Given the description of an element on the screen output the (x, y) to click on. 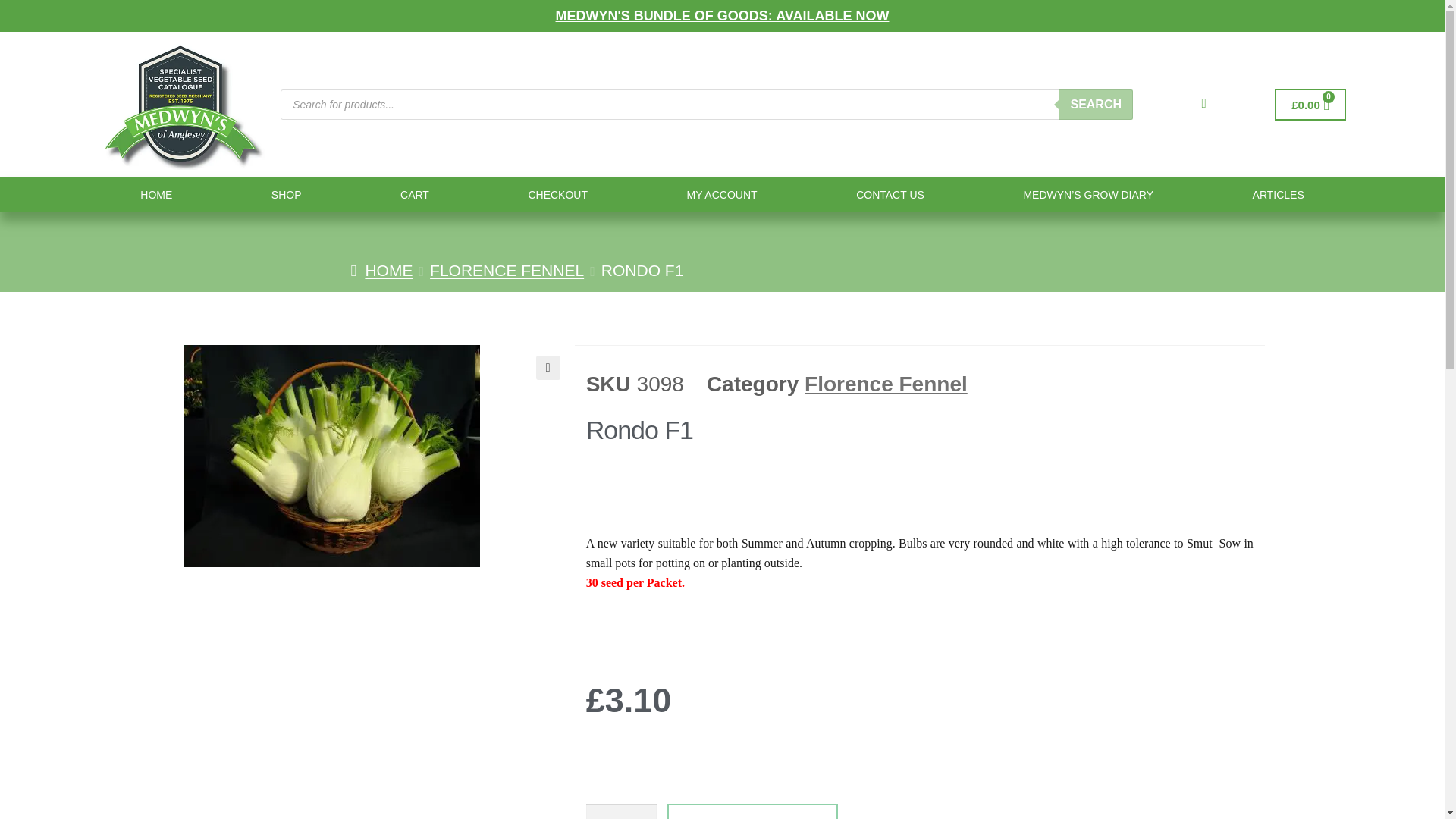
CONTACT US (890, 194)
HOME (156, 194)
CHECKOUT (558, 194)
SHOP (286, 194)
SEARCH (1095, 104)
Rondo F1 (331, 455)
ARTICLES (1278, 194)
1 (621, 811)
MEDWYN'S BUNDLE OF GOODS: AVAILABLE NOW (722, 15)
MY ACCOUNT (721, 194)
CART (414, 194)
